Given the description of an element on the screen output the (x, y) to click on. 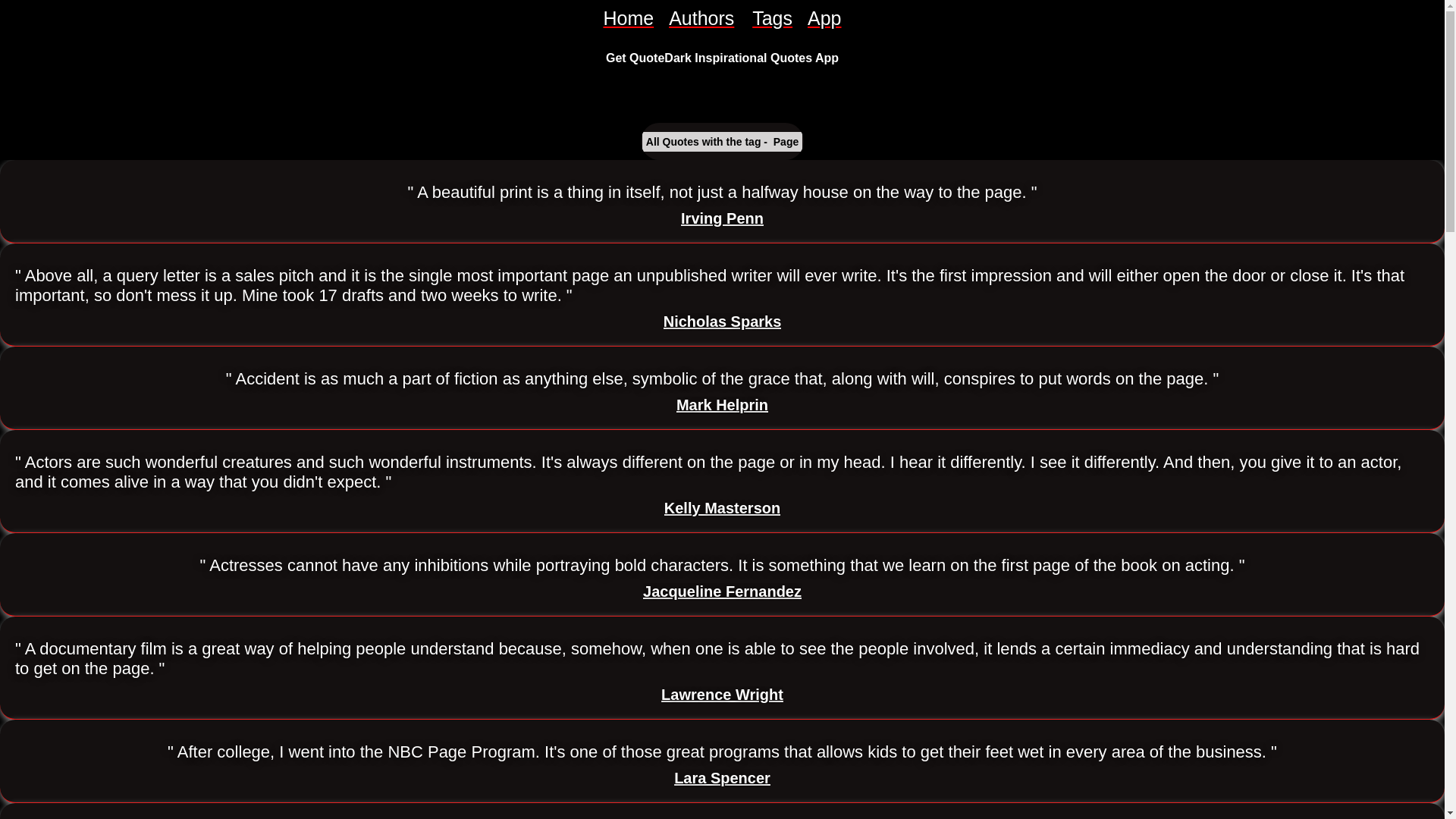
Lara Spencer (722, 778)
Irving Penn (721, 218)
Jacqueline Fernandez (722, 591)
Kelly Masterson (721, 507)
Lawrence Wright (722, 694)
Nicholas Sparks (722, 321)
Home (627, 18)
App (824, 18)
Authors  (702, 18)
Tags (772, 18)
